Given the description of an element on the screen output the (x, y) to click on. 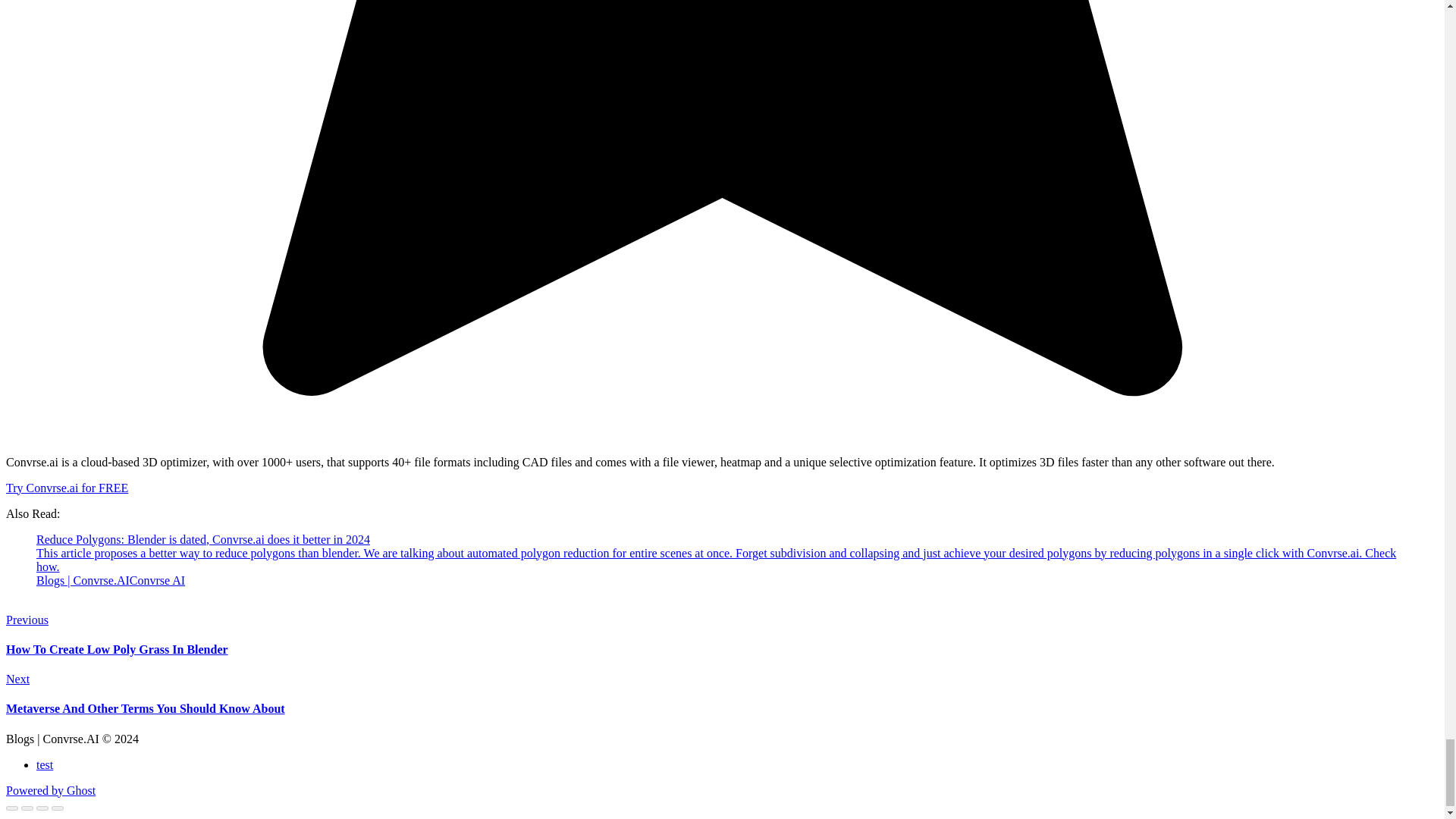
Toggle fullscreen (42, 807)
test (44, 764)
Powered by Ghost (50, 789)
Share (27, 807)
Try Convrse.ai for FREE (66, 487)
